Given the description of an element on the screen output the (x, y) to click on. 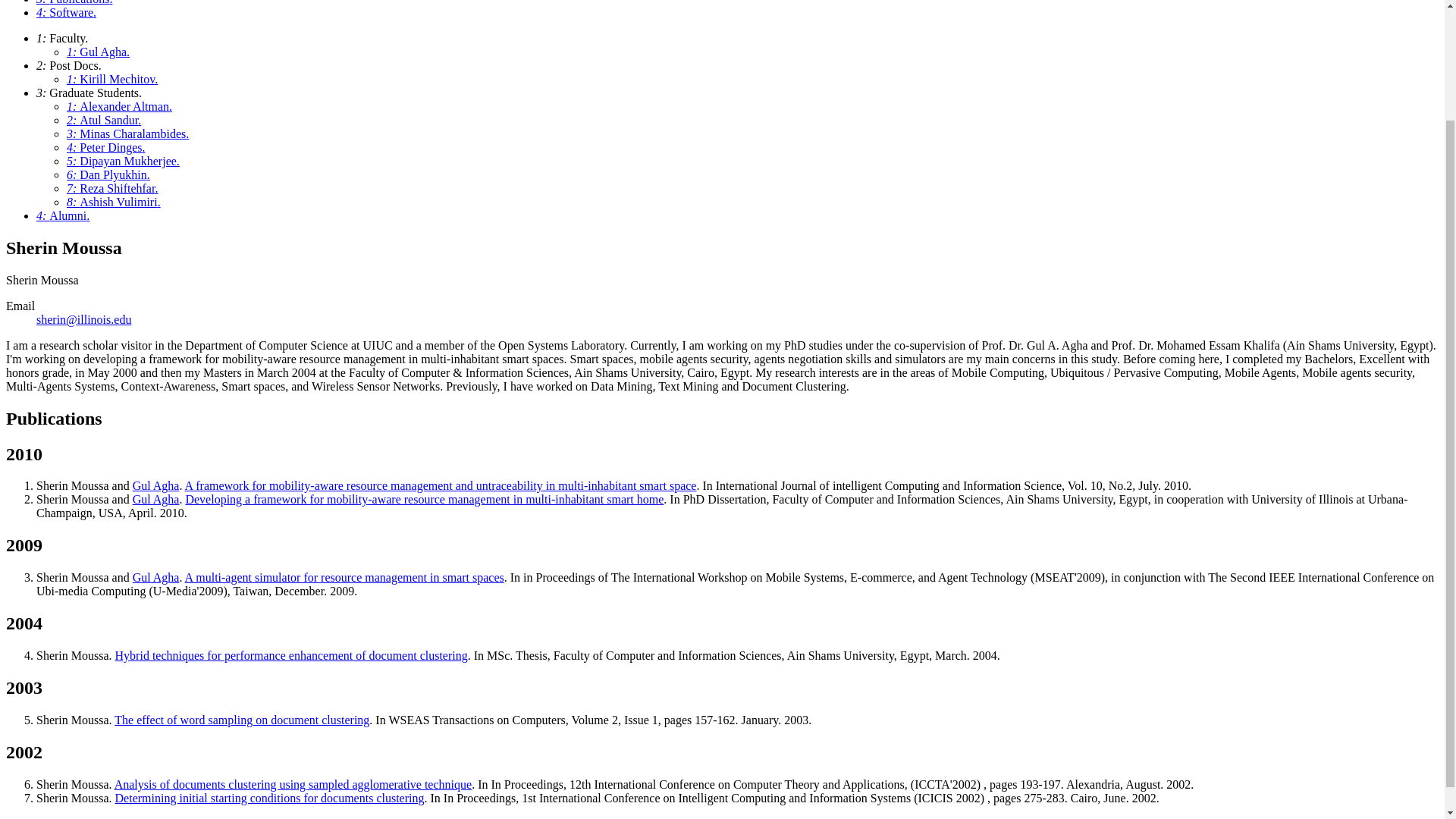
1: Gul Agha. (97, 51)
Articles, reports, and theses (74, 2)
3: Minas Charalambides. (127, 133)
The effect of word sampling on document clustering (242, 719)
1: Kirill Mechitov. (111, 78)
Gul Agha (155, 485)
4: Alumni. (62, 215)
Gul Agha (155, 576)
6: Dan Plyukhin. (107, 174)
Software built for current and past projects (66, 11)
